Given the description of an element on the screen output the (x, y) to click on. 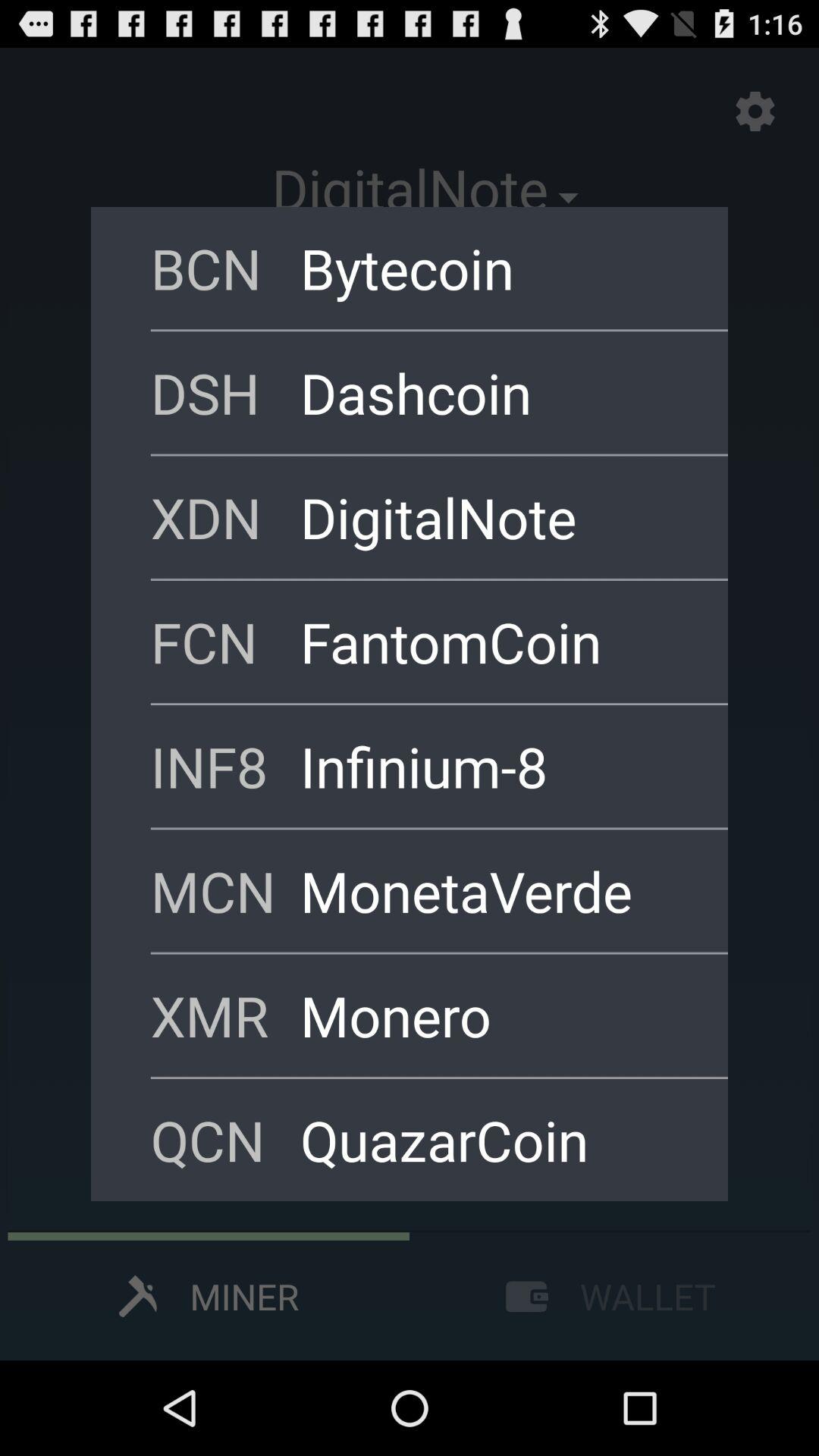
click the xmr app (225, 1015)
